Given the description of an element on the screen output the (x, y) to click on. 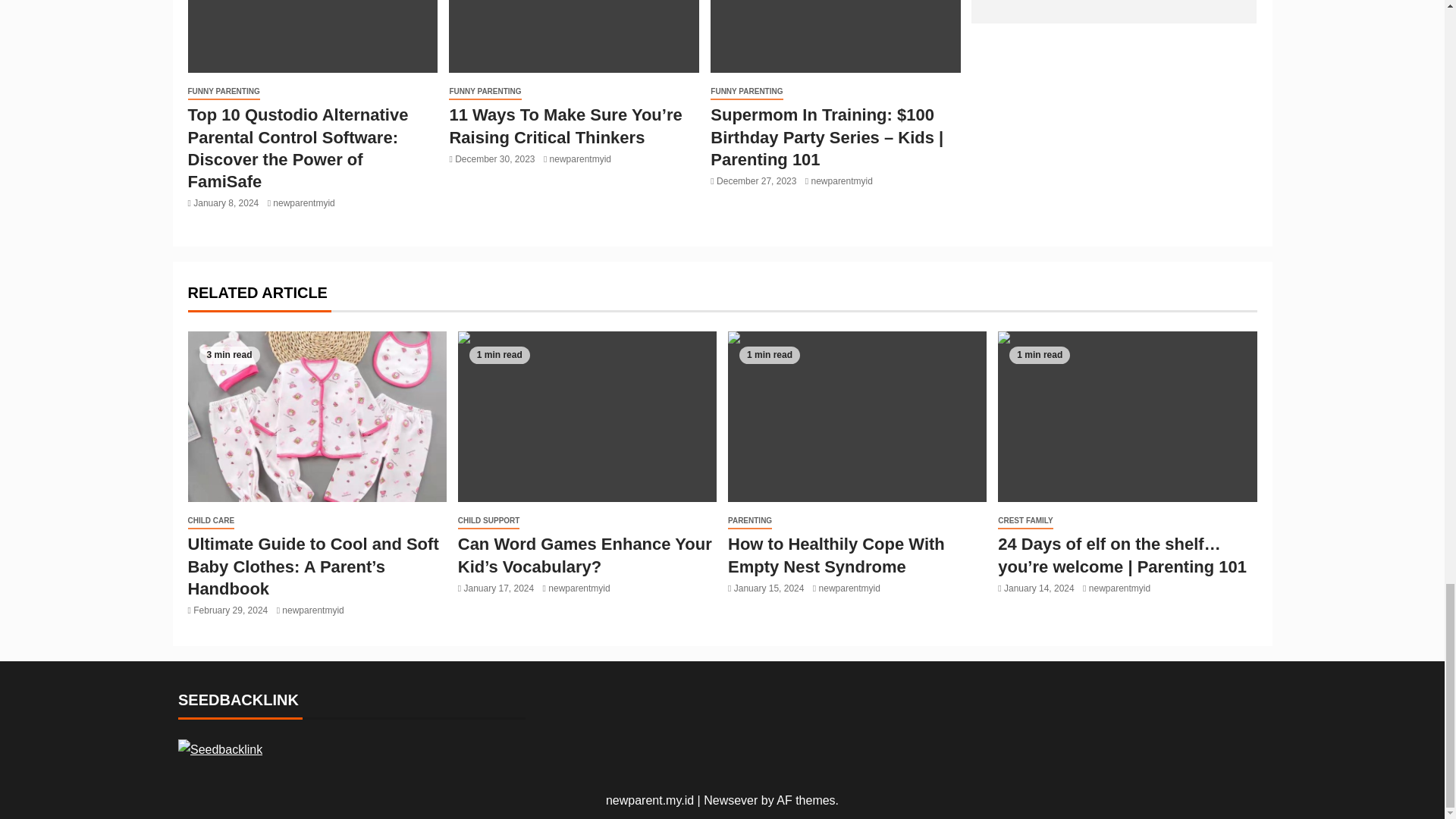
Seedbacklink (219, 749)
FUNNY PARENTING (223, 91)
